Given the description of an element on the screen output the (x, y) to click on. 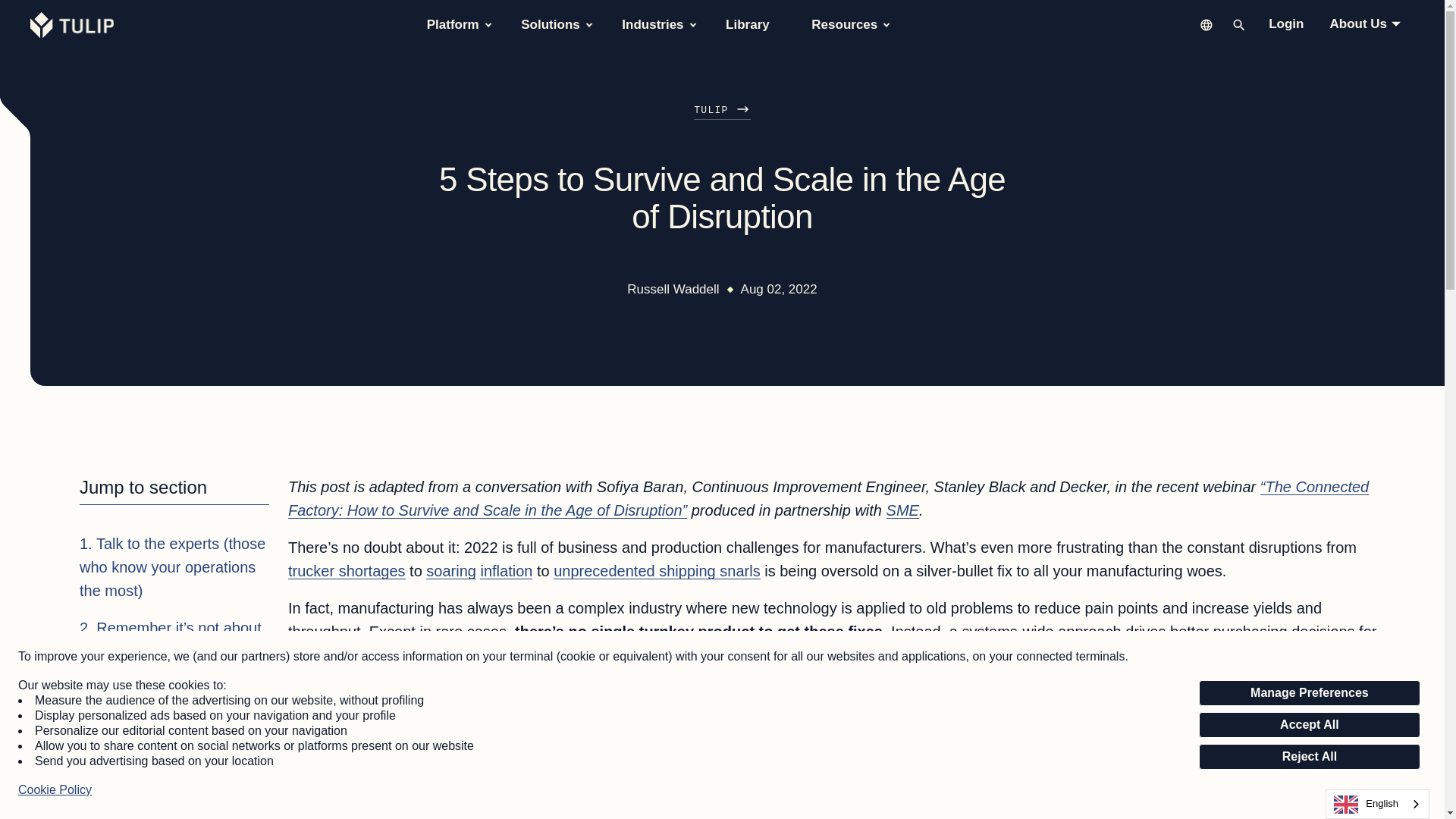
4. Think in terms of systems (174, 719)
Tulip (73, 24)
Reject All (1309, 756)
Jump to section (174, 490)
5. Demand much more from software (174, 767)
Manage Preferences (1309, 692)
Cookie Policy (54, 789)
Accept All (1309, 724)
